Given the description of an element on the screen output the (x, y) to click on. 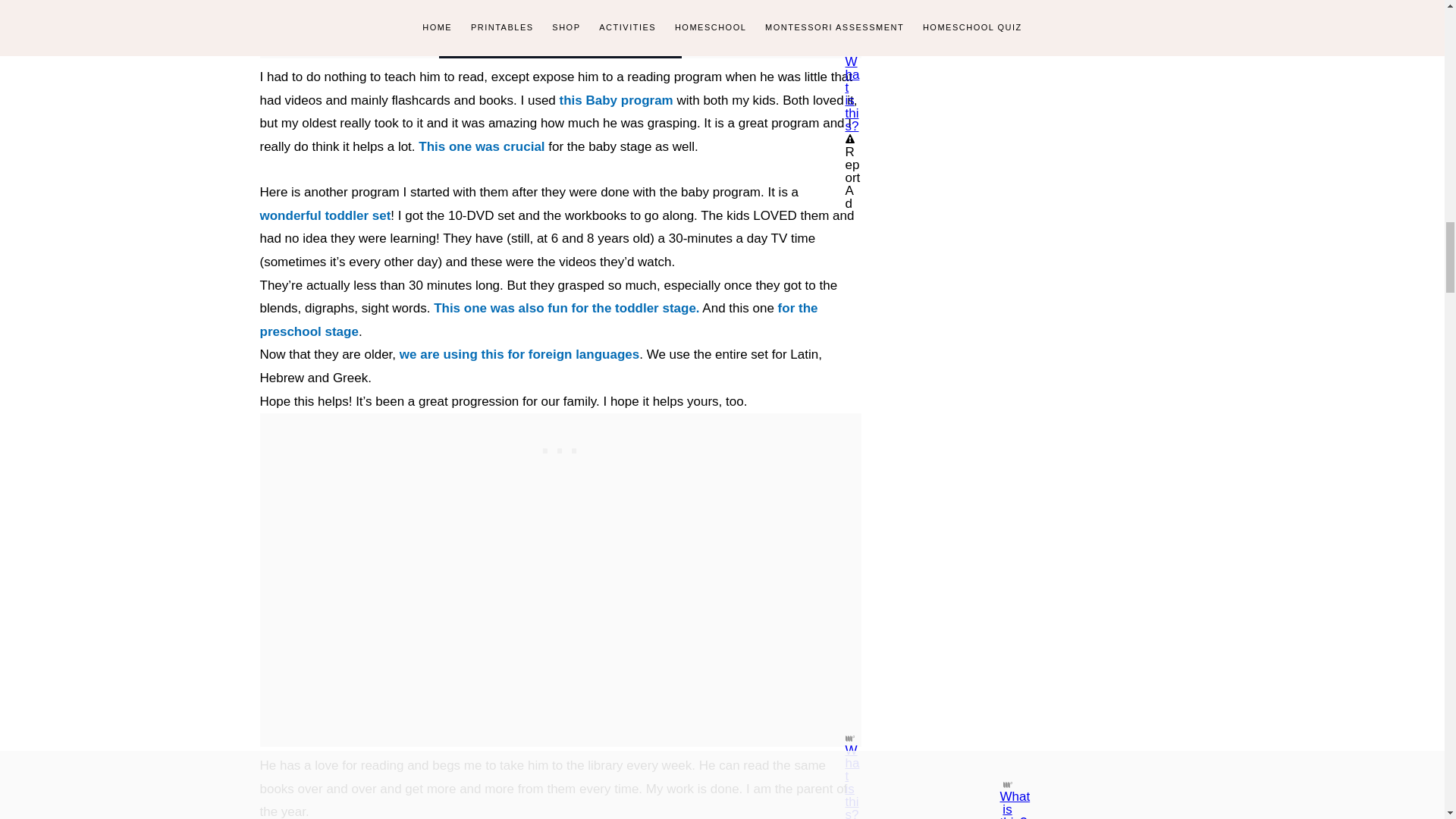
3rd party ad content (559, 447)
